Given the description of an element on the screen output the (x, y) to click on. 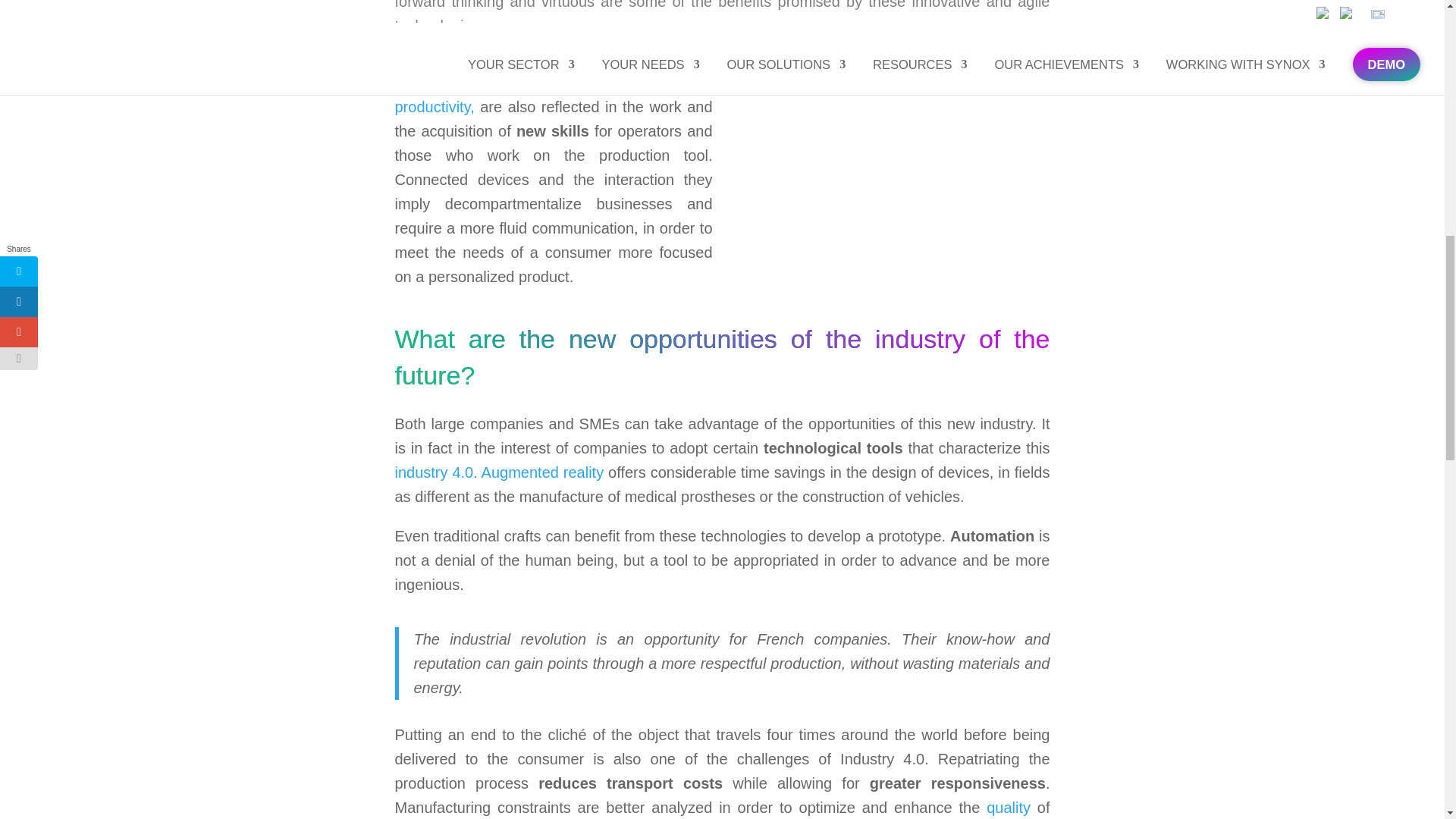
industry 4.0 opportunities (796, 76)
